Given the description of an element on the screen output the (x, y) to click on. 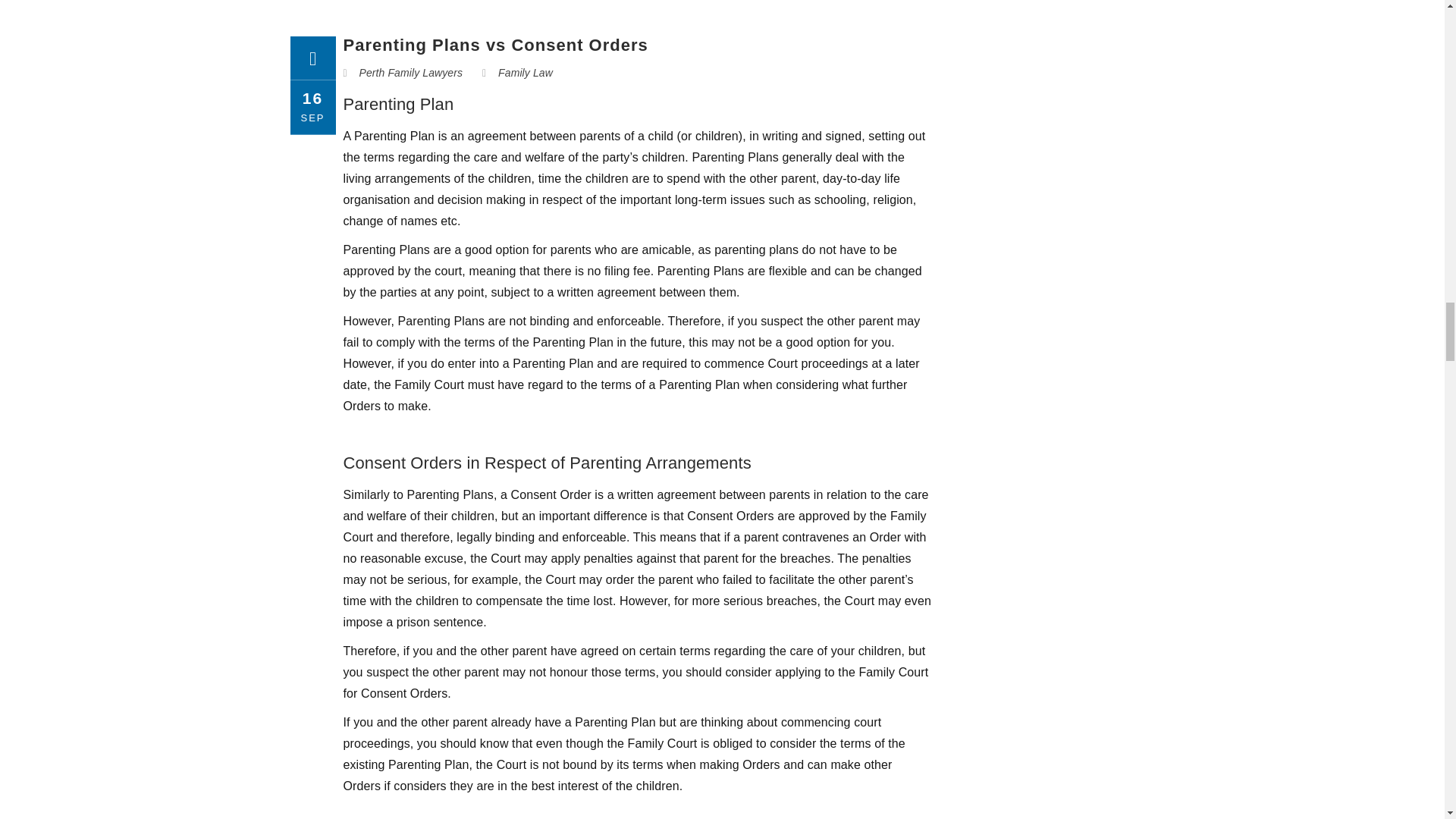
View all posts by Perth Family Lawyers (411, 72)
